Given the description of an element on the screen output the (x, y) to click on. 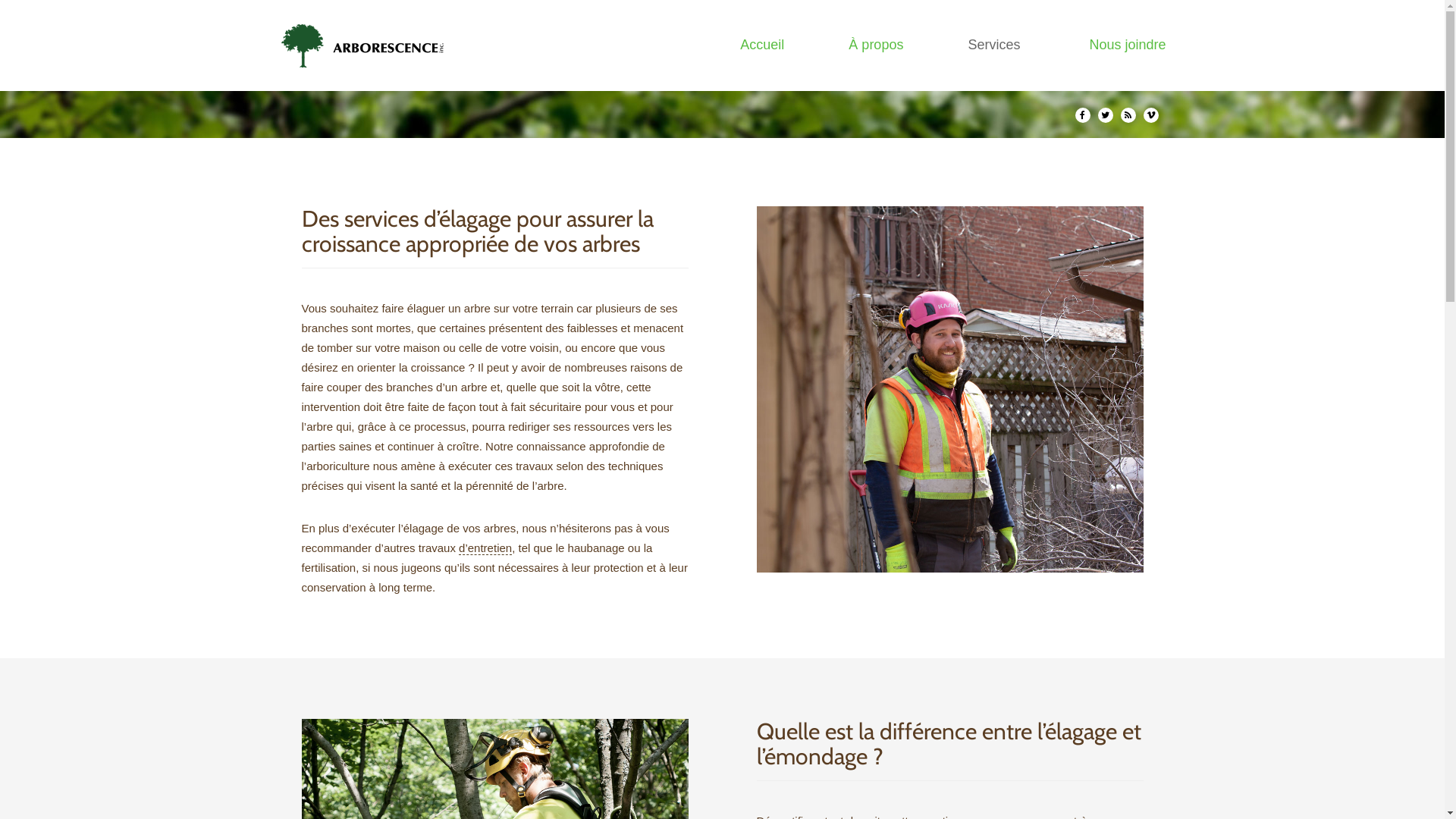
Arborescence Inc Element type: hover (367, 45)
photo-valeurs Element type: hover (949, 389)
Services Element type: text (995, 45)
Accueil Element type: text (762, 45)
Nous joindre Element type: text (1126, 45)
